Given the description of an element on the screen output the (x, y) to click on. 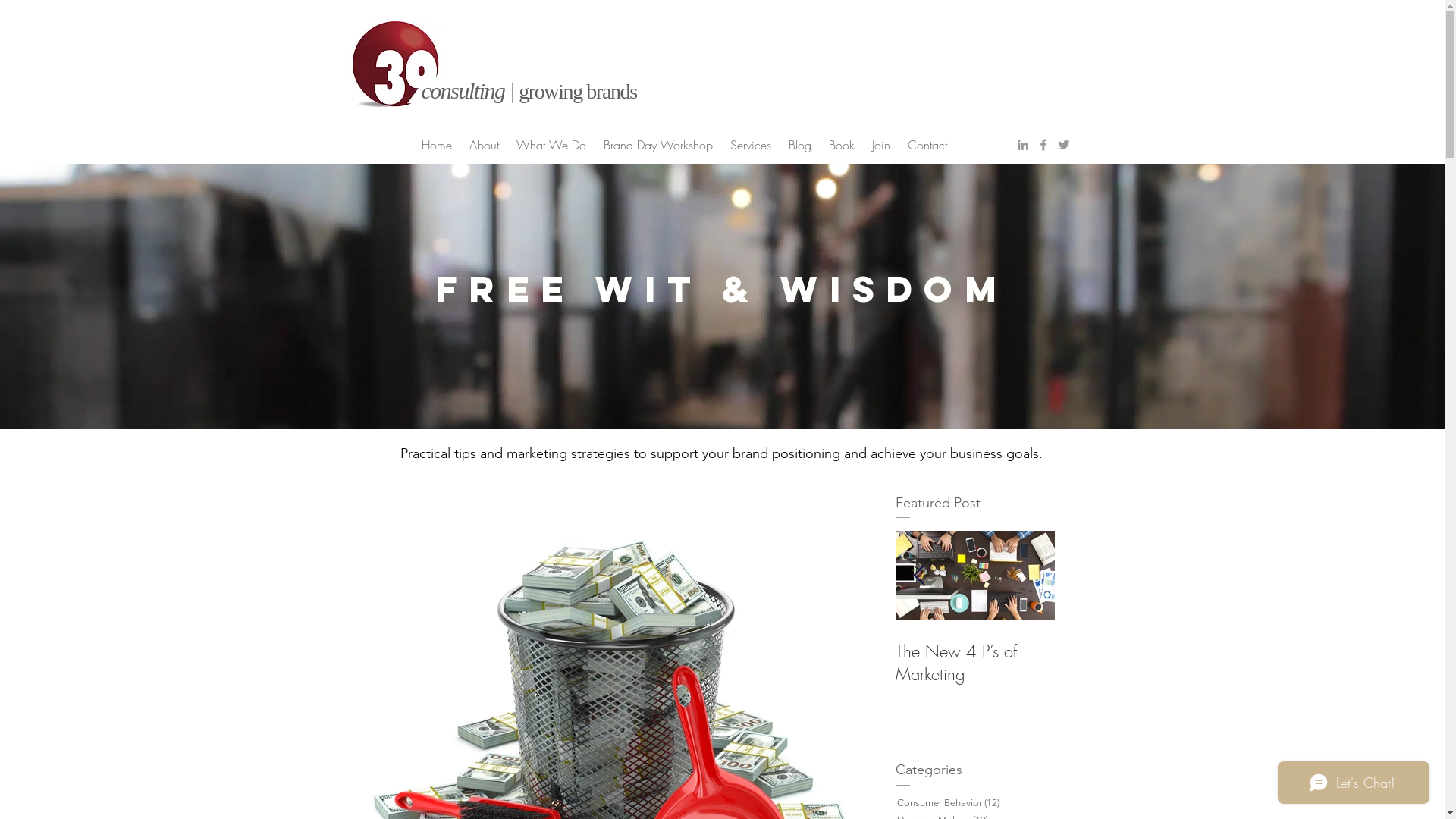
Consumer Behavior (12) Element type: text (977, 802)
Join Element type: text (880, 144)
Home Element type: text (436, 144)
Services Element type: text (750, 144)
Blog Element type: text (799, 144)
About Element type: text (484, 144)
Contact Element type: text (927, 144)
Book Element type: text (841, 144)
What We Do Element type: text (551, 144)
Brand Day Workshop Element type: text (657, 144)
